Given the description of an element on the screen output the (x, y) to click on. 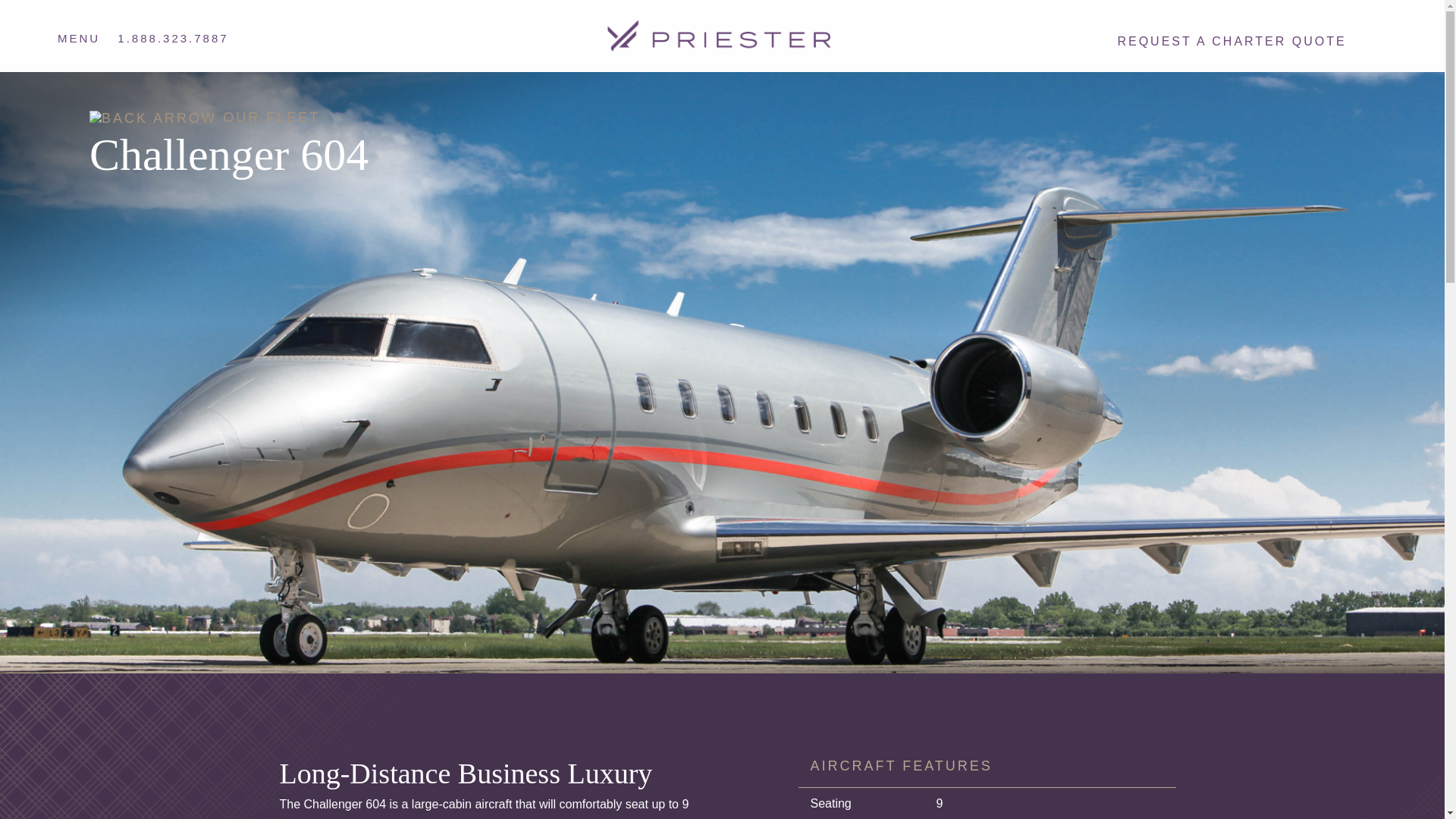
MENU (79, 38)
1.888.323.7887 (172, 38)
